Given the description of an element on the screen output the (x, y) to click on. 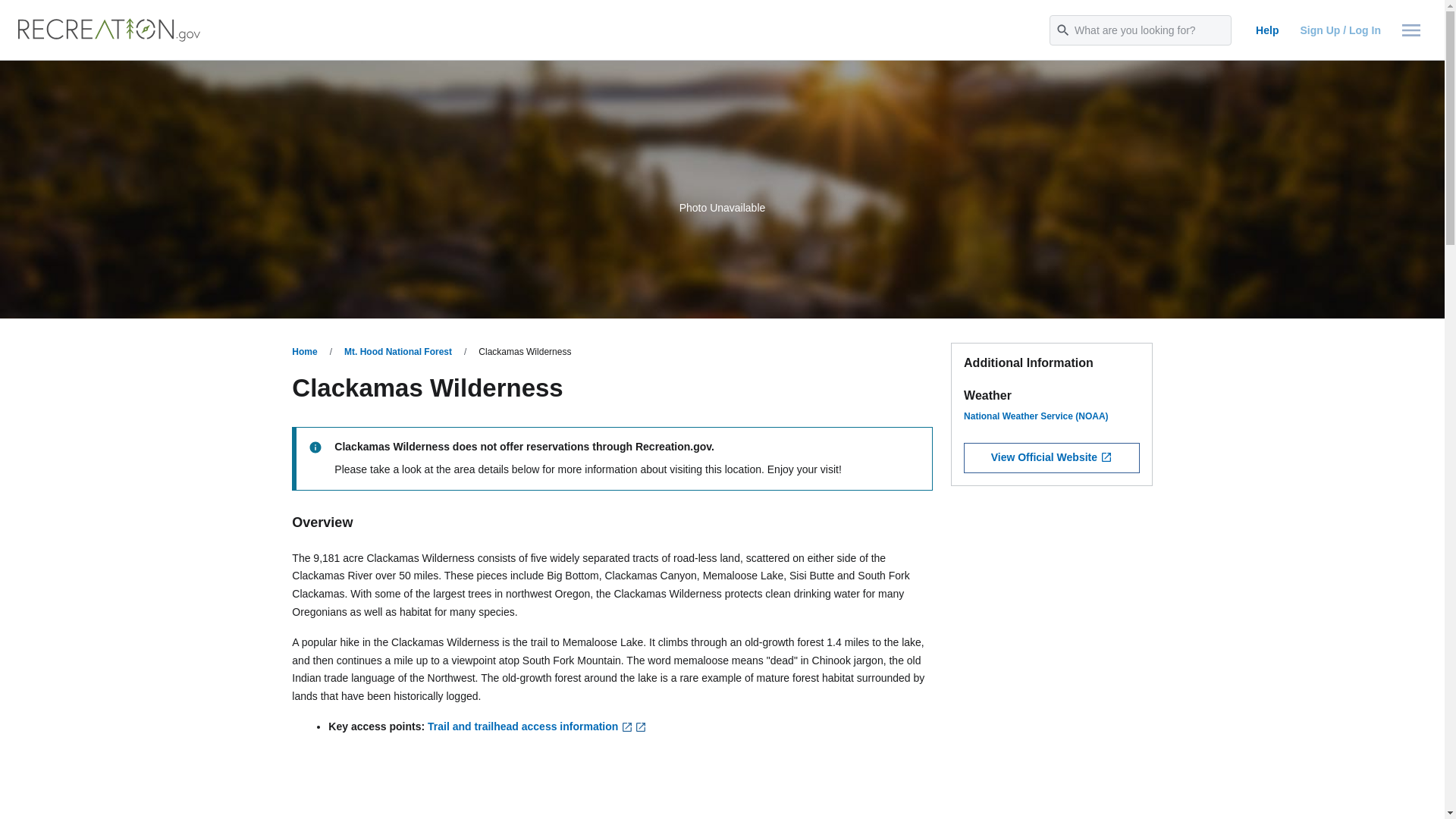
Trail and trailhead access information (529, 726)
Home (304, 351)
View Official Website (1051, 458)
Help (1266, 30)
Mt. Hood National Forest (397, 351)
